Given the description of an element on the screen output the (x, y) to click on. 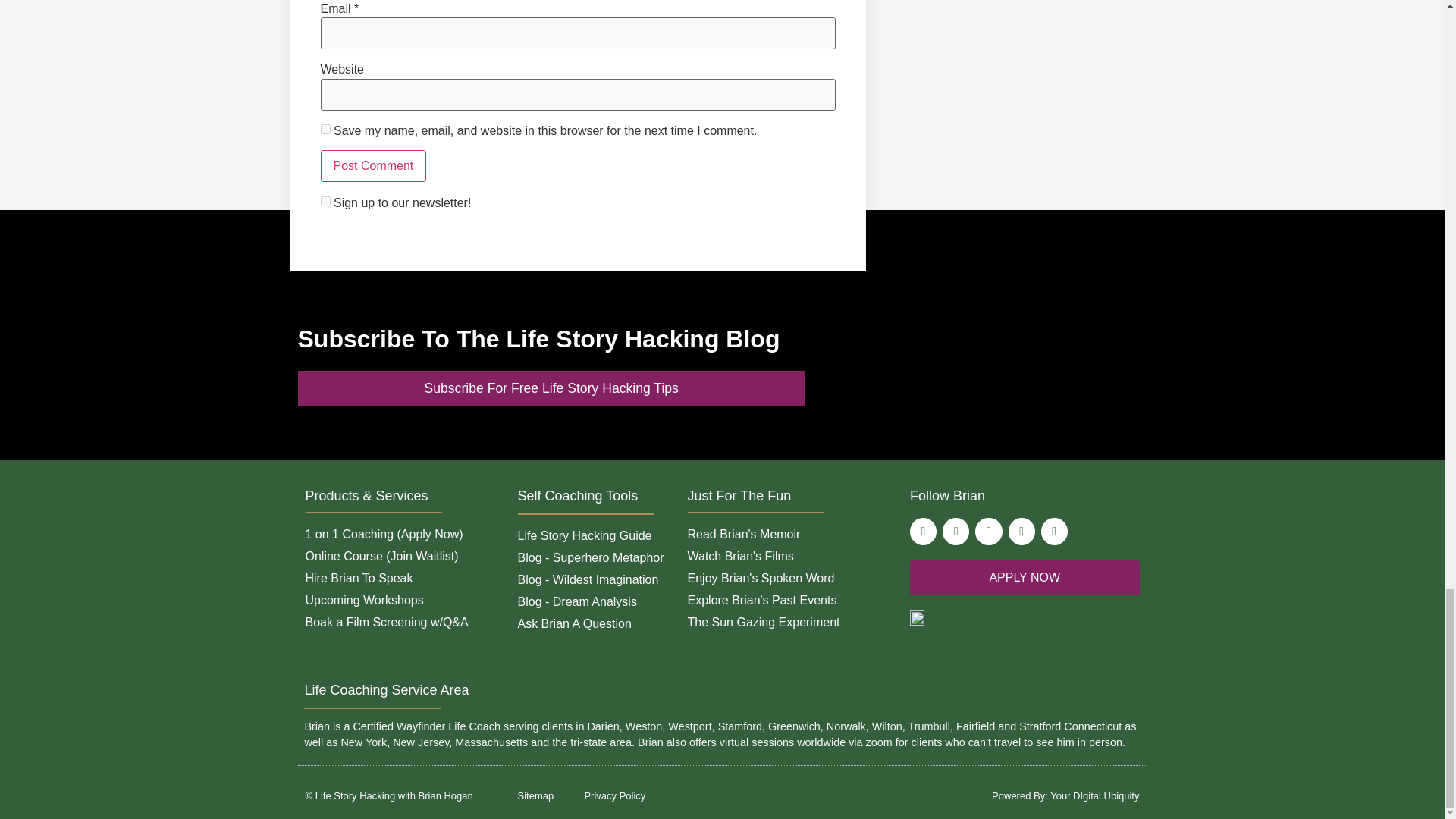
yes (325, 129)
1 (325, 201)
Post Comment (373, 165)
